Given the description of an element on the screen output the (x, y) to click on. 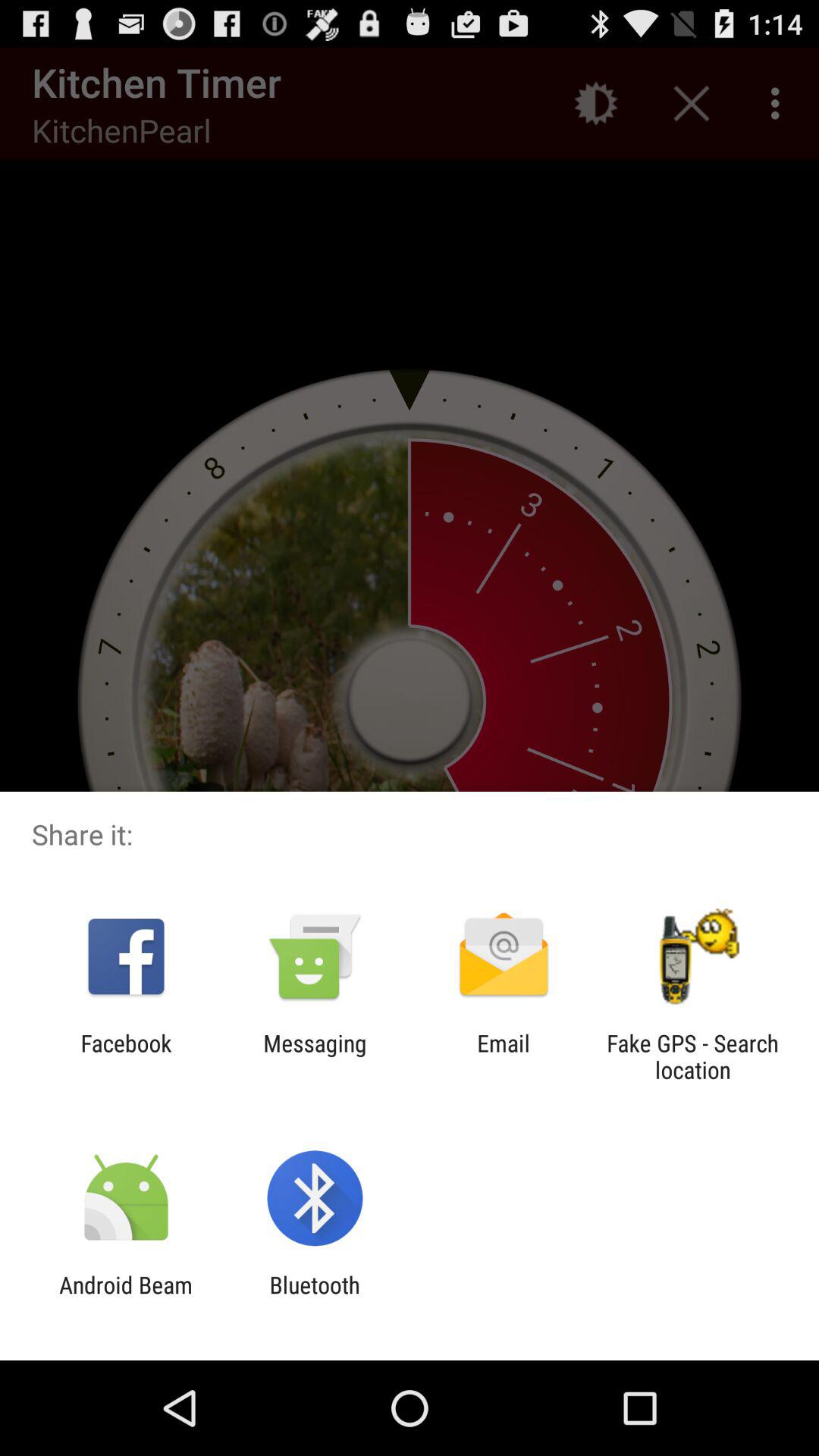
turn off app next to the fake gps search item (503, 1056)
